Given the description of an element on the screen output the (x, y) to click on. 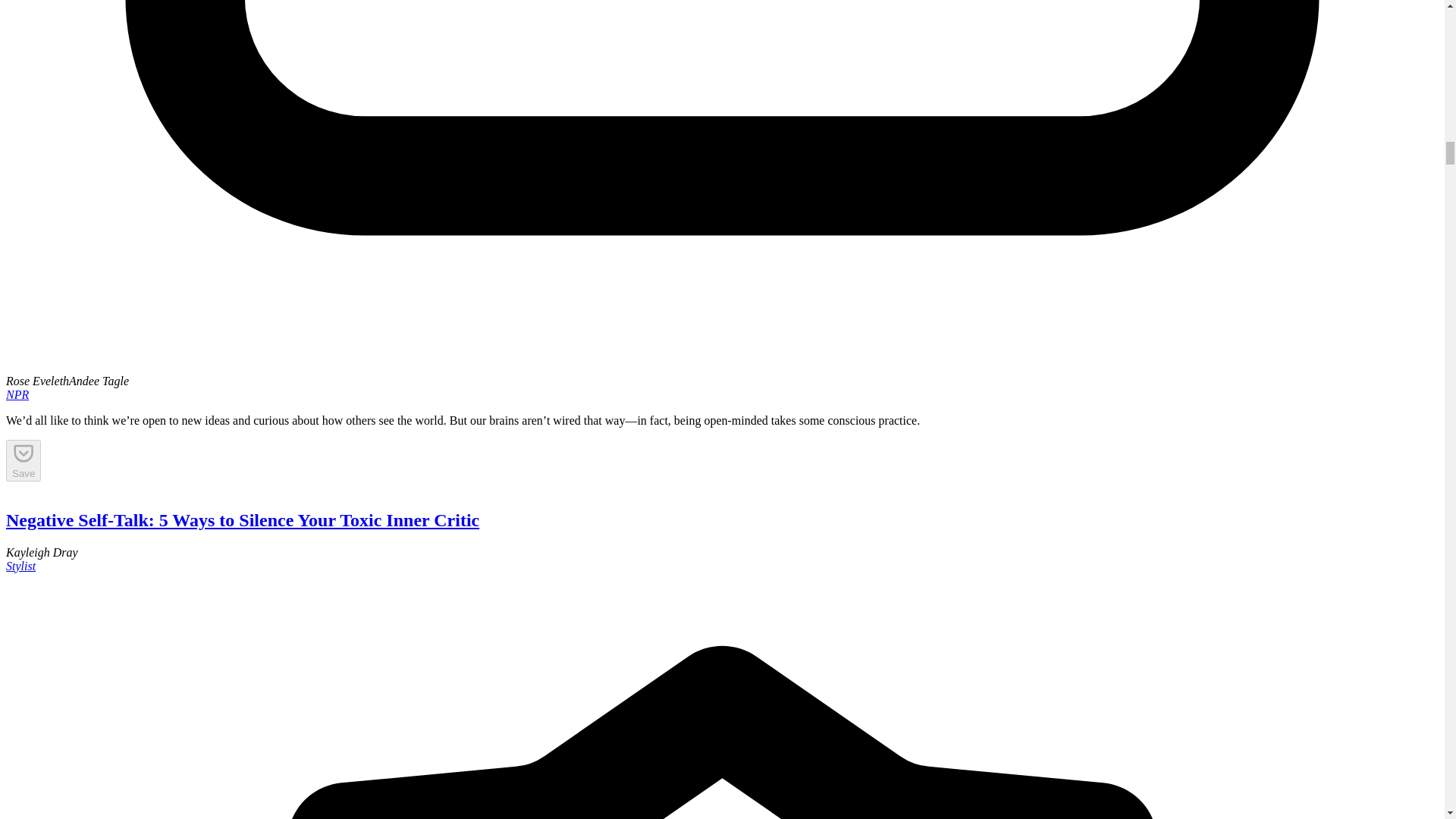
Stylist (19, 565)
Save (22, 459)
NPR (17, 394)
